Given the description of an element on the screen output the (x, y) to click on. 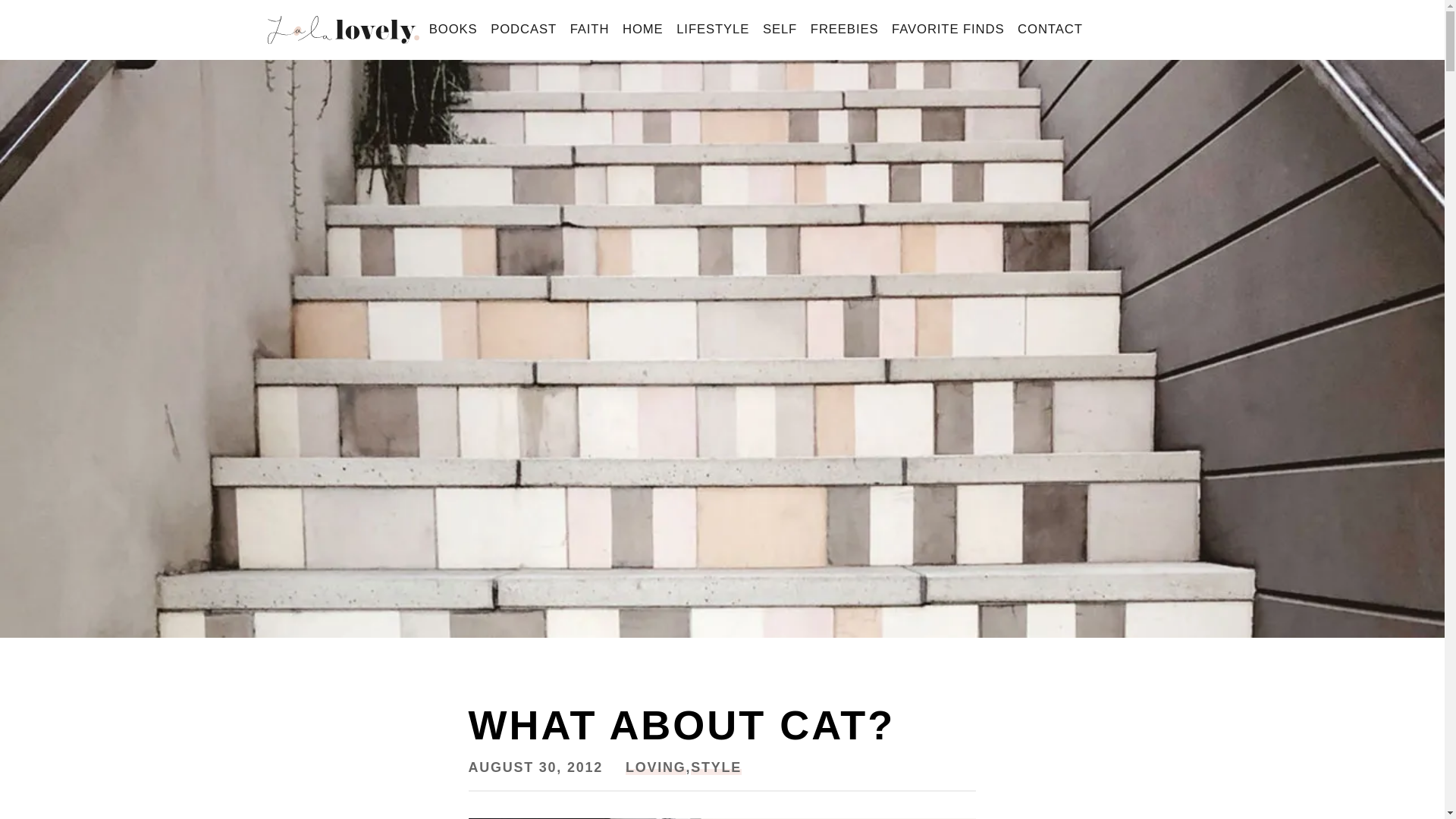
PODCAST (523, 29)
FREEBIES (844, 29)
BOOKS (452, 29)
FAVORITE FINDS (947, 29)
SELF (779, 29)
HOME (642, 29)
LIFESTYLE (712, 29)
Search (40, 17)
FAITH (589, 29)
